Given the description of an element on the screen output the (x, y) to click on. 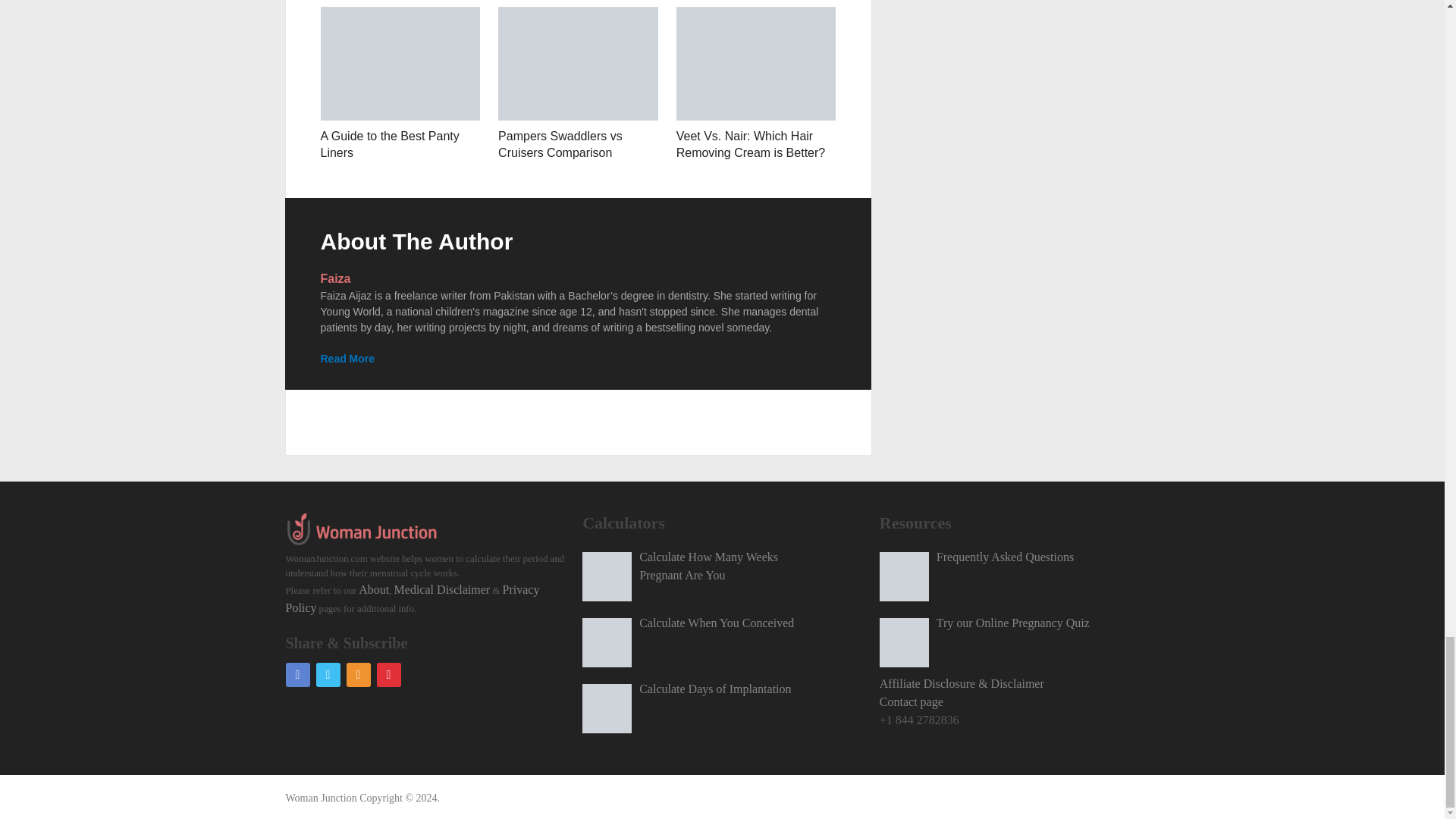
A Guide to the Best Panty Liners (389, 143)
Pampers Swaddlers vs Cruisers Comparison (577, 63)
Pampers Swaddlers vs Cruisers Comparison (560, 143)
A Guide to the Best Panty Liners (400, 63)
Veet Vs. Nair: Which Hair Removing Cream is Better? (756, 63)
Veet Vs. Nair: Which Hair Removing Cream is Better? (751, 143)
